Given the description of an element on the screen output the (x, y) to click on. 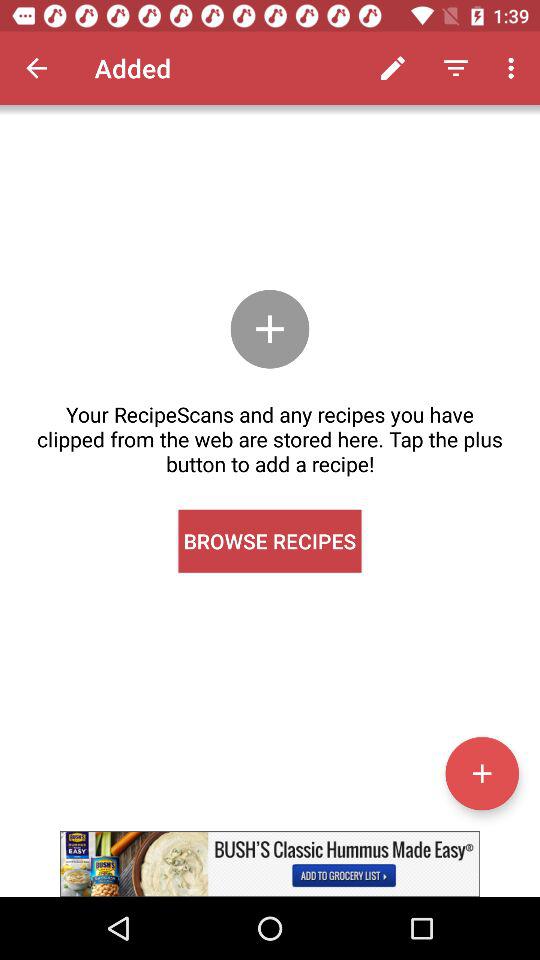
open advertisement (270, 864)
